Given the description of an element on the screen output the (x, y) to click on. 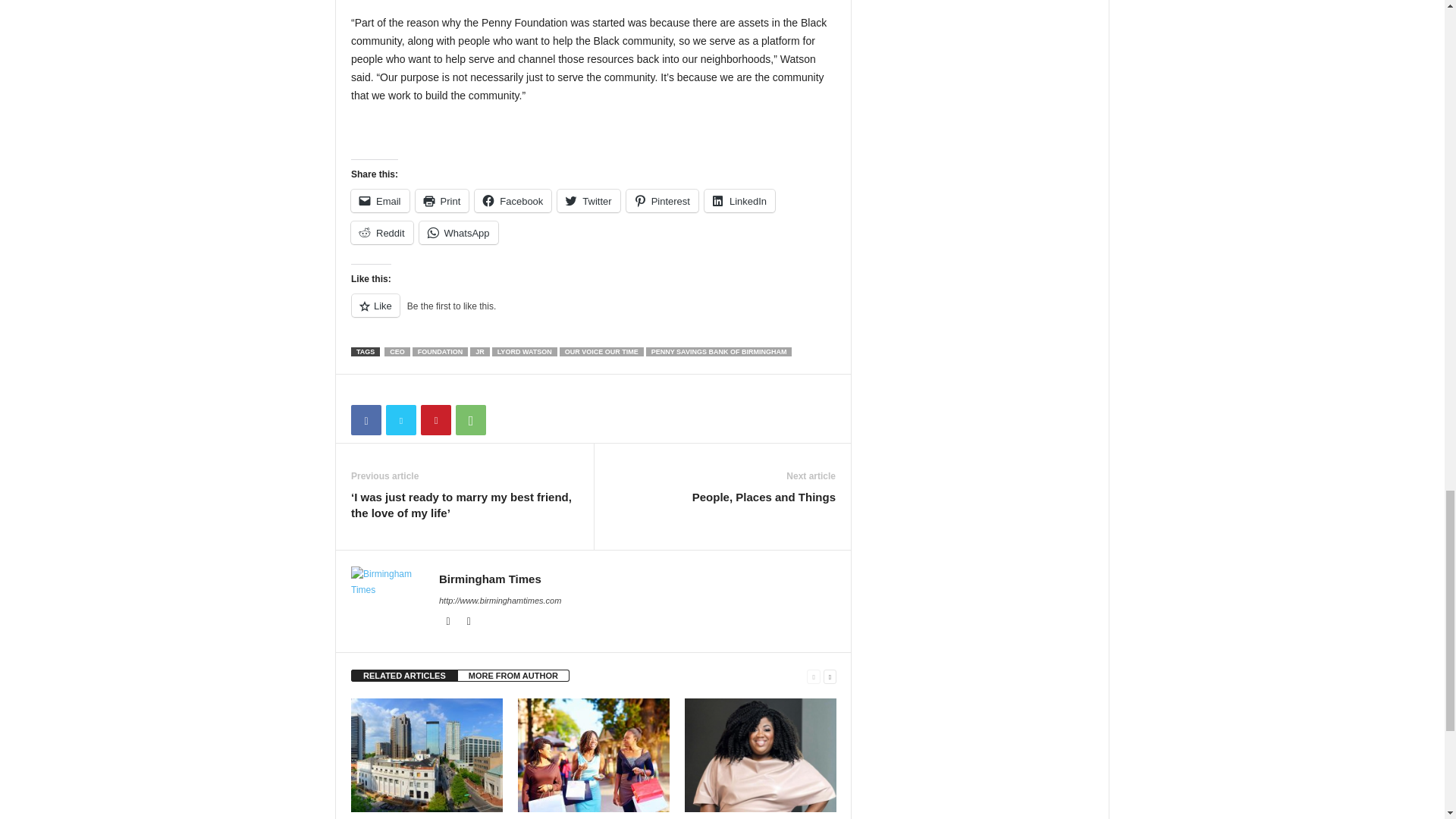
Click to print (441, 200)
Click to share on WhatsApp (458, 232)
Click to share on LinkedIn (739, 200)
Like or Reblog (592, 313)
Click to email a link to a friend (379, 200)
Click to share on Facebook (512, 200)
Click to share on Reddit (381, 232)
Click to share on Twitter (588, 200)
Click to share on Pinterest (662, 200)
